Given the description of an element on the screen output the (x, y) to click on. 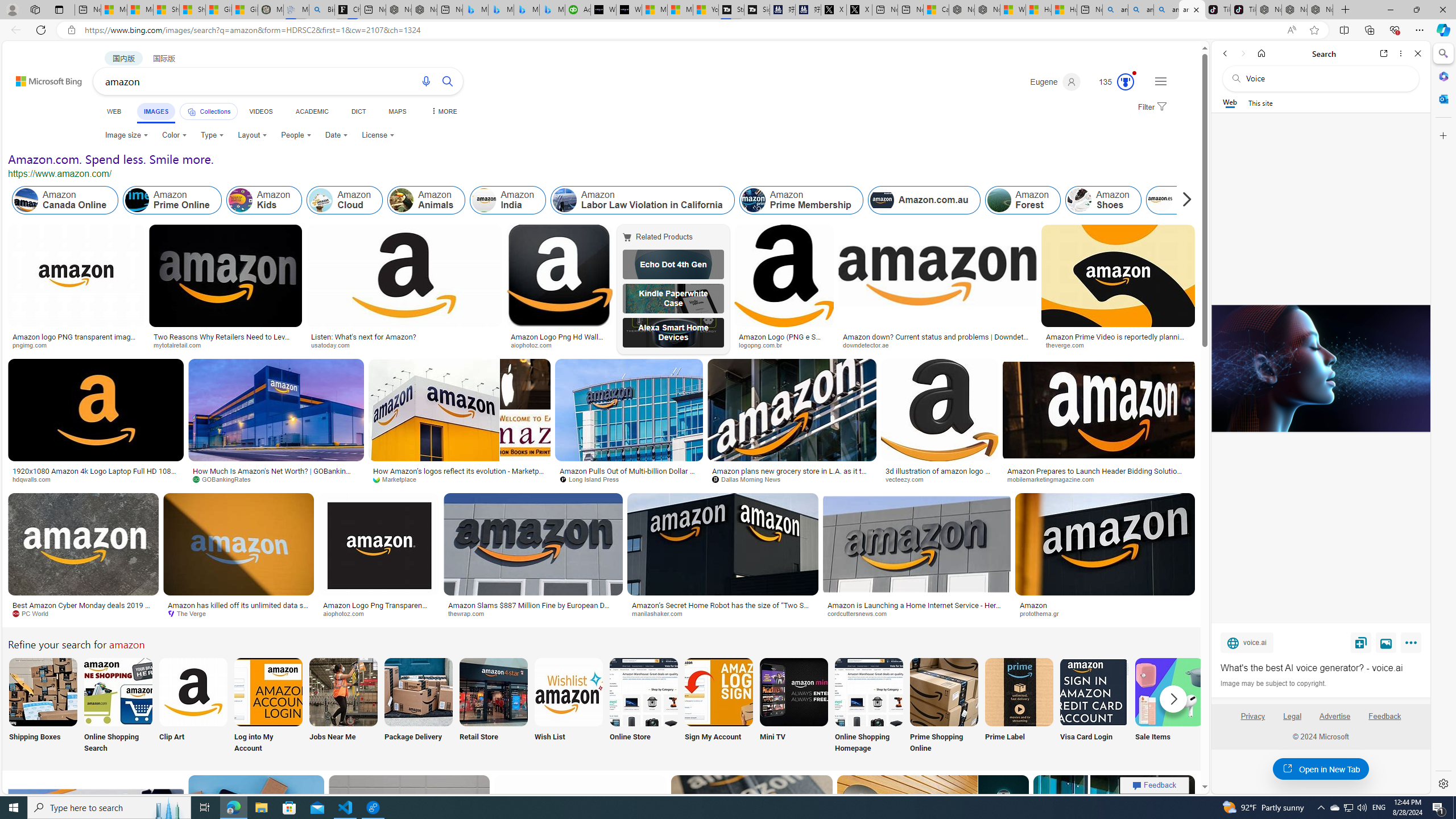
Shipping Boxes (42, 706)
Amazon Visa Card Login Visa Card Login (1093, 706)
MAPS (397, 111)
logopng.com.br (764, 344)
Alexa Smart Home Devices (673, 332)
Online Shopping Search (118, 706)
Echo Dot 4th Gen (673, 264)
Class: item col (1183, 199)
Class: medal-circled (1125, 81)
protothema.gr (1043, 612)
Microsoft Bing Travel - Shangri-La Hotel Bangkok (551, 9)
